Given the description of an element on the screen output the (x, y) to click on. 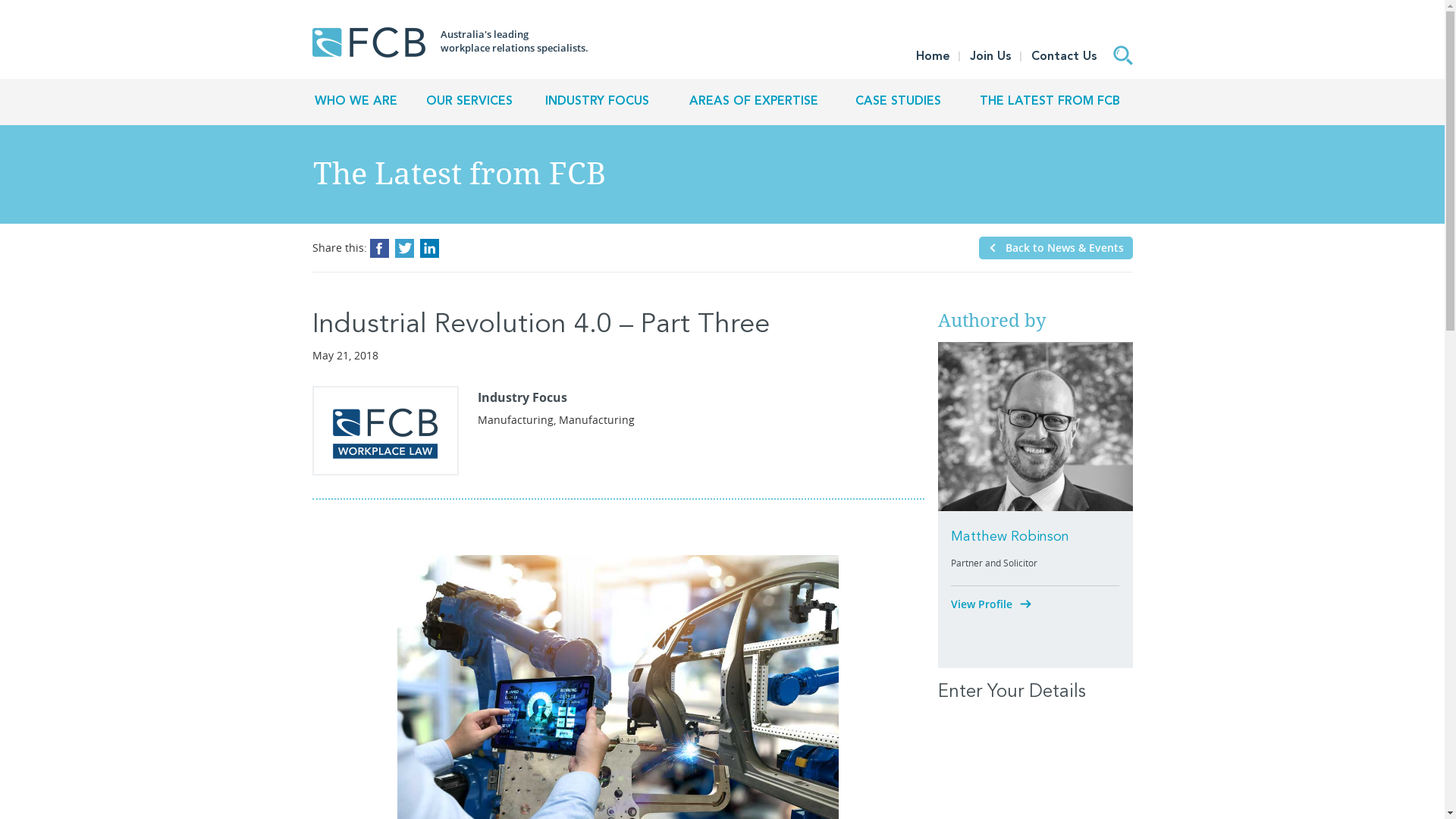
THE LATEST FROM FCB Element type: text (1049, 101)
LinkedIn Element type: hover (429, 248)
CASE STUDIES Element type: text (897, 101)
INDUSTRY FOCUS Element type: text (597, 101)
Australia's leading
workplace relations specialists. Element type: text (450, 42)
Twitter Element type: hover (403, 248)
WHO WE ARE Element type: text (355, 101)
OUR SERVICES Element type: text (469, 101)
Facebook Element type: hover (379, 248)
View Profile Element type: text (1000, 603)
Contact Us Element type: text (1064, 56)
Back to News & Events Element type: text (1055, 247)
Home Element type: text (933, 56)
AREAS OF EXPERTISE Element type: text (753, 101)
Join Us Element type: text (989, 56)
